Given the description of an element on the screen output the (x, y) to click on. 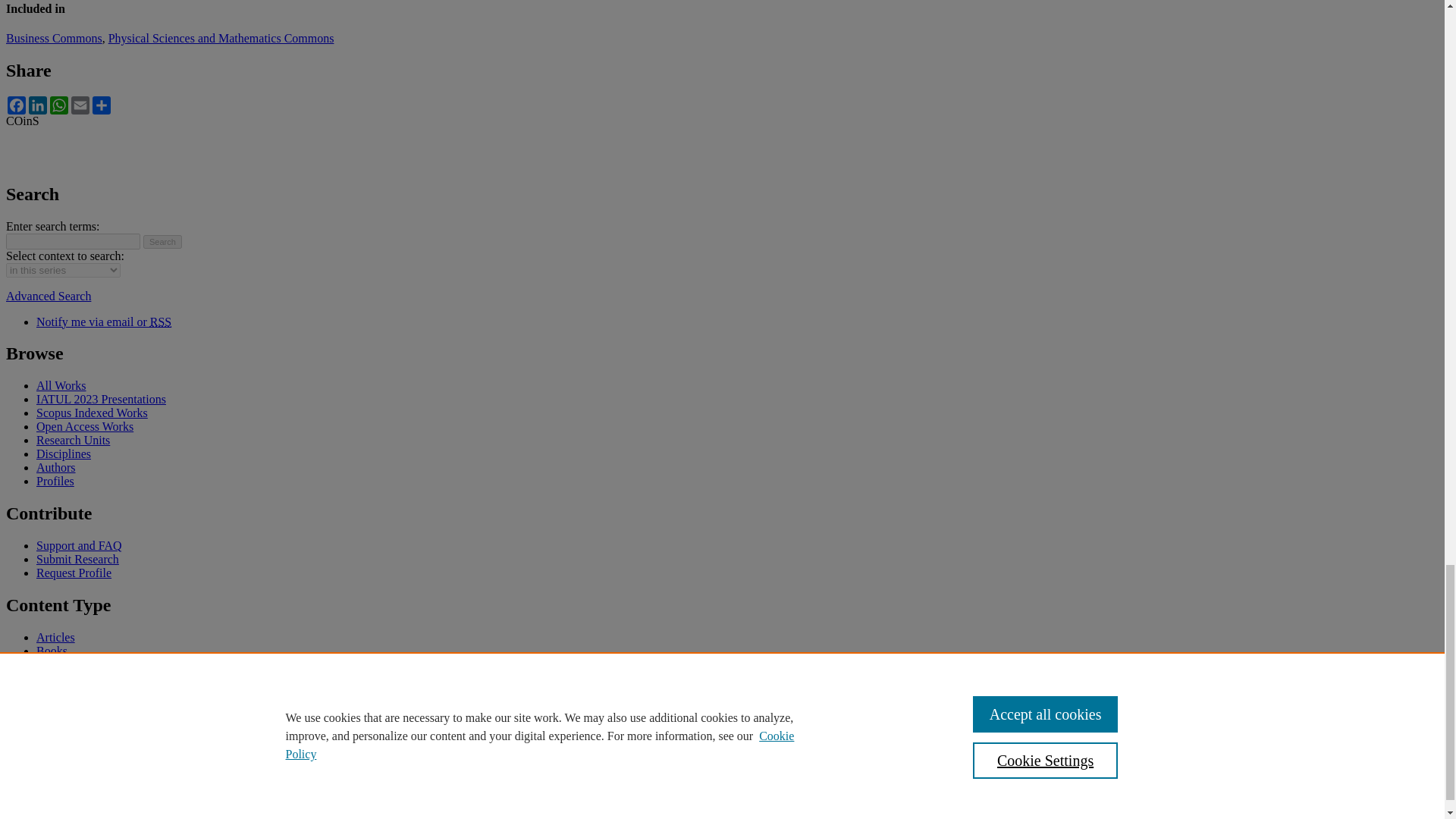
Advanced Search (47, 295)
Search (162, 241)
Business Commons (53, 38)
Search (162, 241)
Browse by Disciplines (63, 453)
Facebook (16, 105)
Physical Sciences and Mathematics Commons (220, 38)
LinkedIn (37, 105)
Share (101, 105)
Email or RSS Notifications (103, 321)
Physical Sciences and Mathematics Commons (220, 38)
Email (79, 105)
Business Commons (53, 38)
Really Simple Syndication (160, 321)
WhatsApp (58, 105)
